Given the description of an element on the screen output the (x, y) to click on. 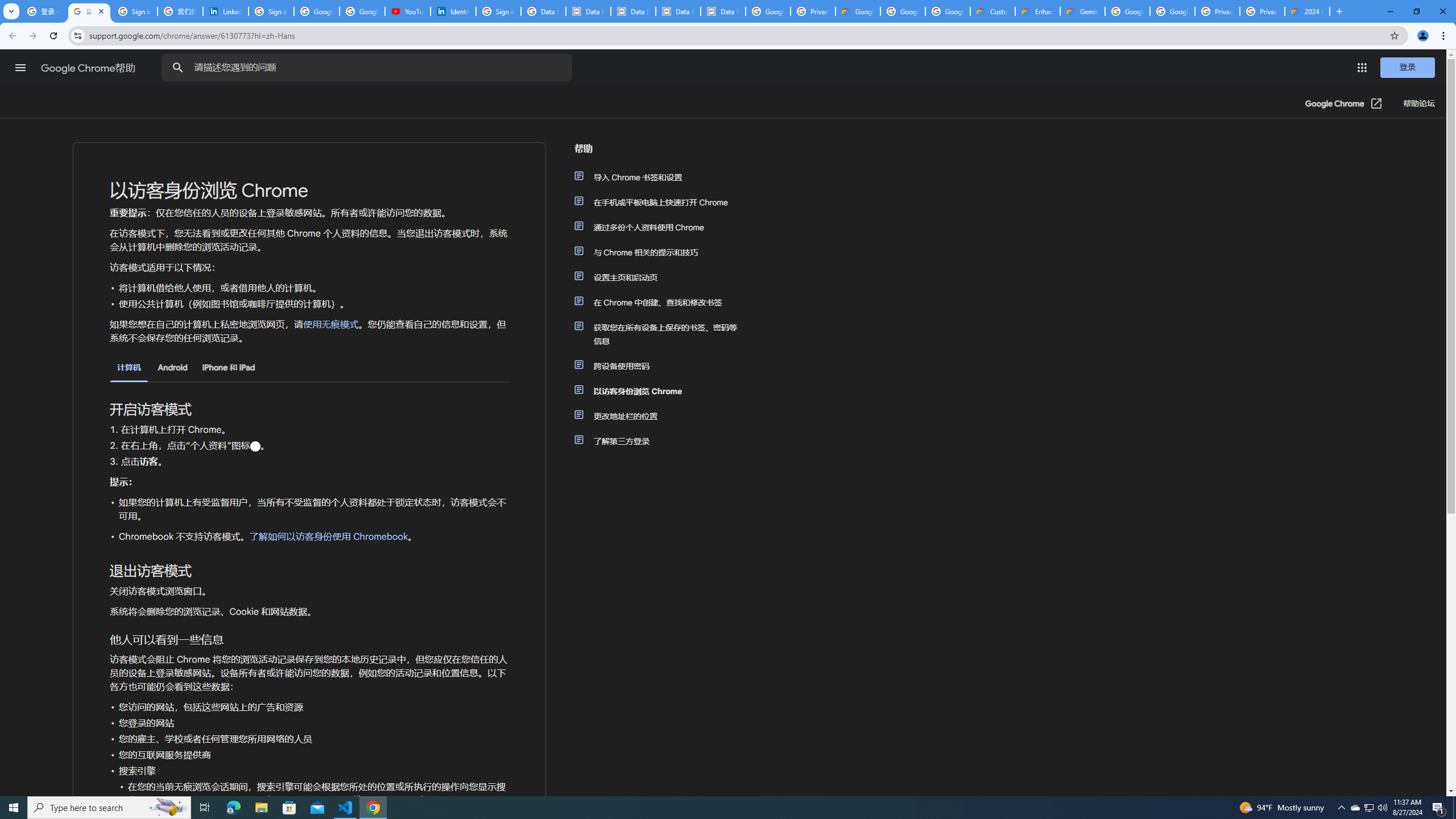
Data Privacy Framework (633, 11)
Google Cloud Terms Directory | Google Cloud (857, 11)
Sign in - Google Accounts (134, 11)
Data Privacy Framework (587, 11)
